Given the description of an element on the screen output the (x, y) to click on. 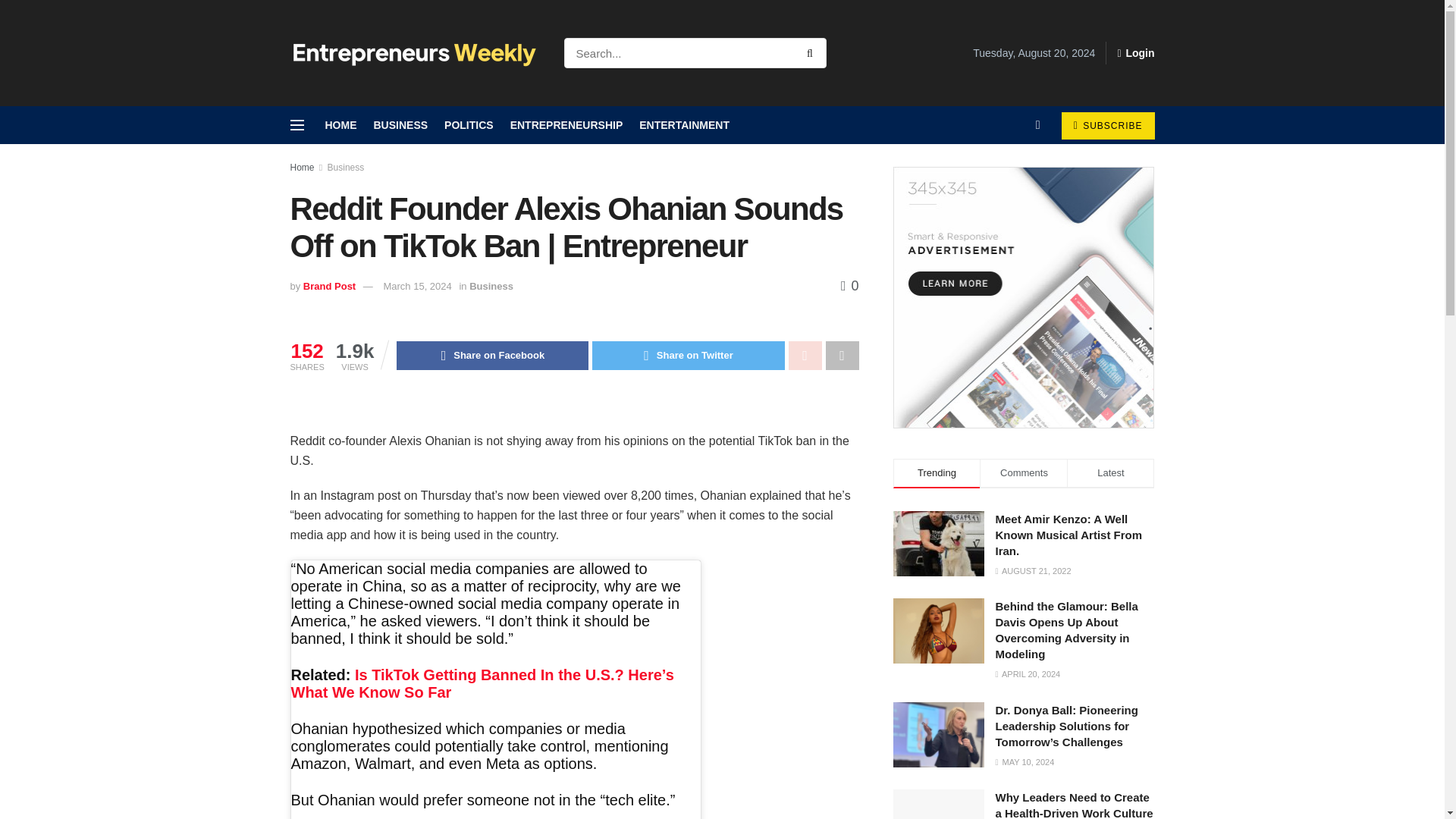
Share on Twitter (688, 355)
SUBSCRIBE (1107, 125)
March 15, 2024 (416, 285)
Brand Post (328, 285)
Login (1135, 53)
Share on Facebook (492, 355)
Meet Amir Kenzo: A Well Known Musical Artist From Iran. (938, 543)
POLITICS (468, 125)
Business (490, 285)
